Given the description of an element on the screen output the (x, y) to click on. 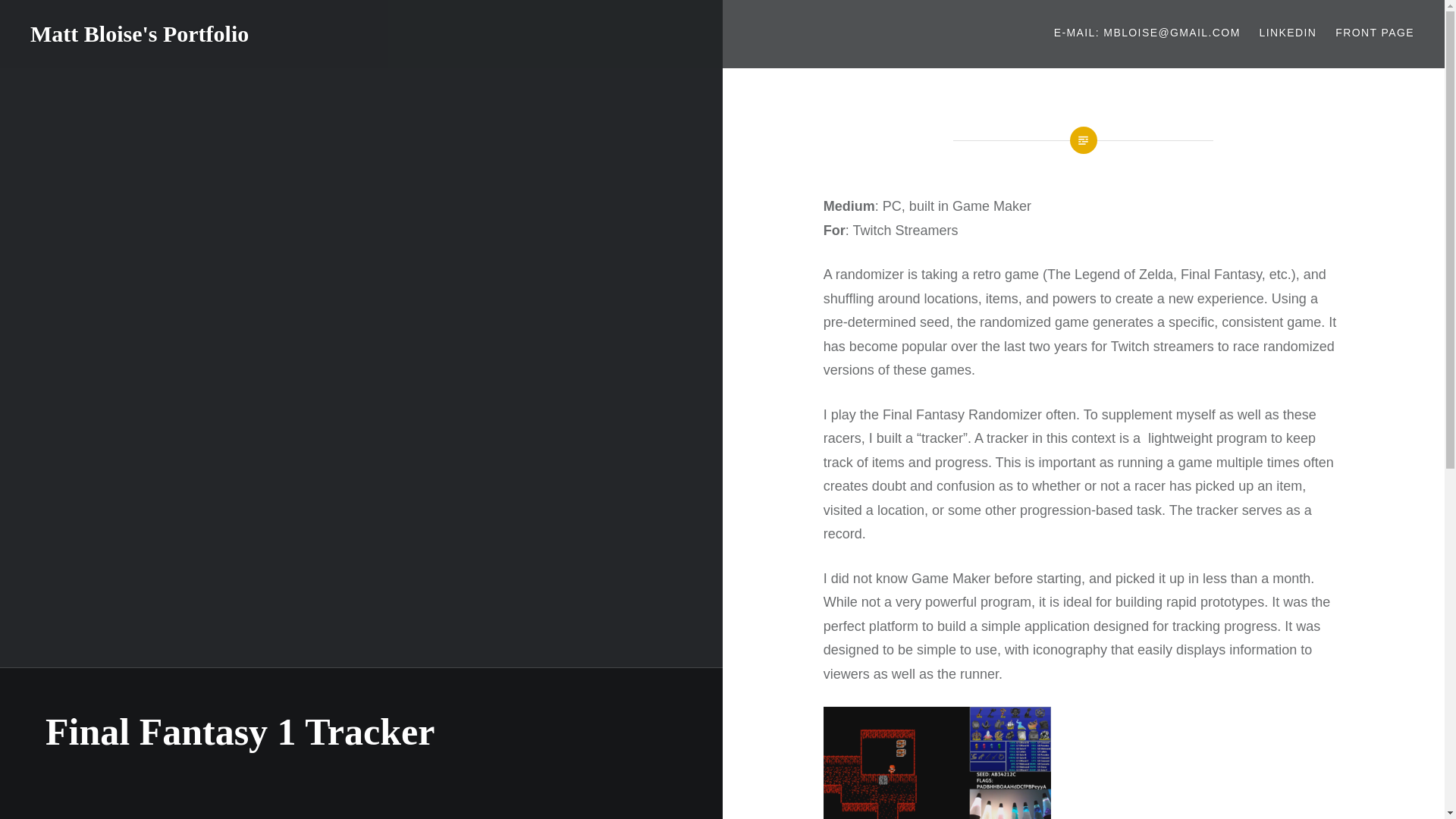
LINKEDIN (1288, 32)
Matt Bloise's Portfolio (139, 33)
FRONT PAGE (1374, 32)
